Given the description of an element on the screen output the (x, y) to click on. 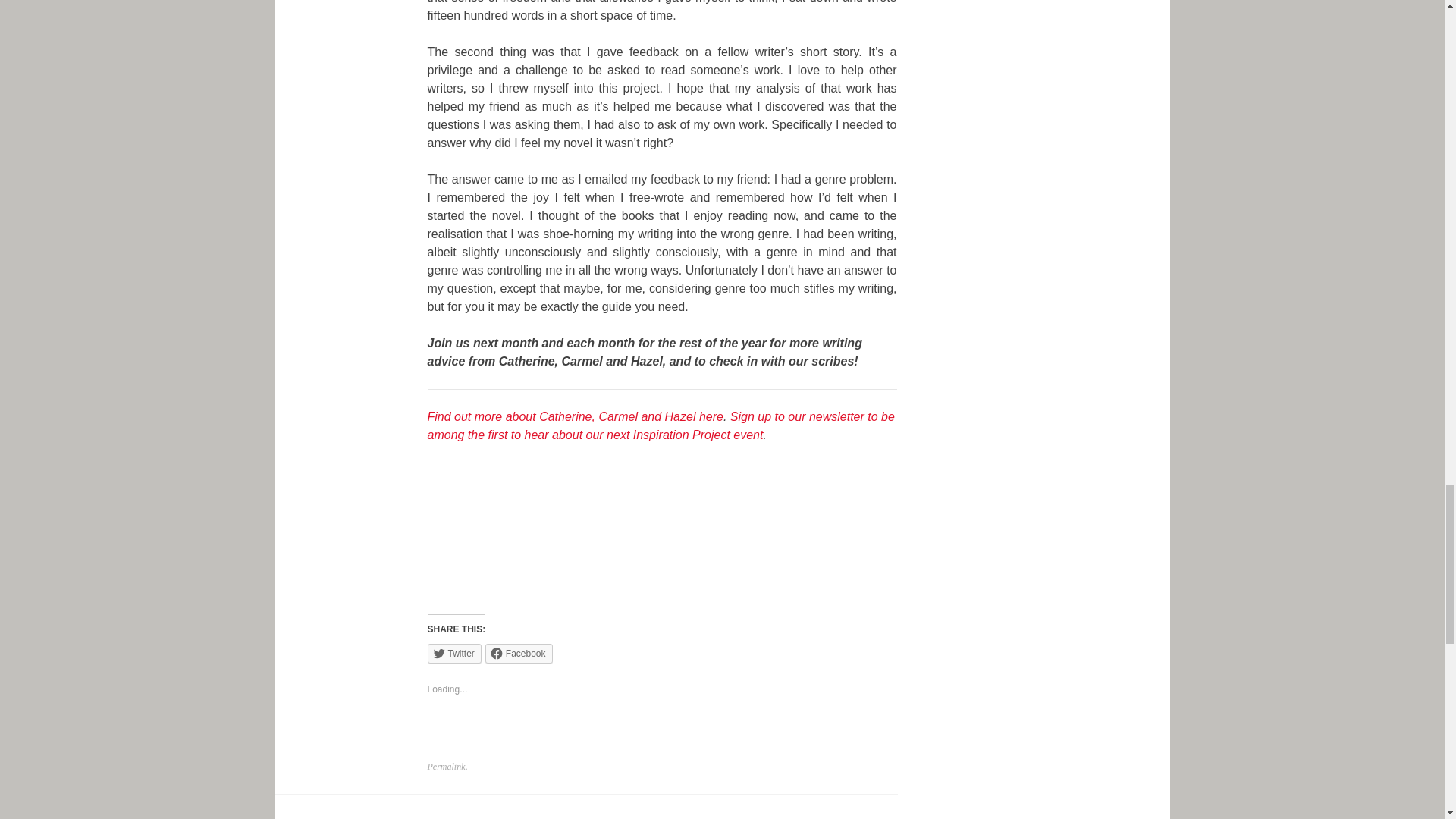
Facebook (518, 653)
Click to share on Twitter (454, 653)
Twitter (454, 653)
Find out more about Catherine, Carmel and Hazel here (575, 415)
Click to share on Facebook (518, 653)
Permalink (446, 766)
